Given the description of an element on the screen output the (x, y) to click on. 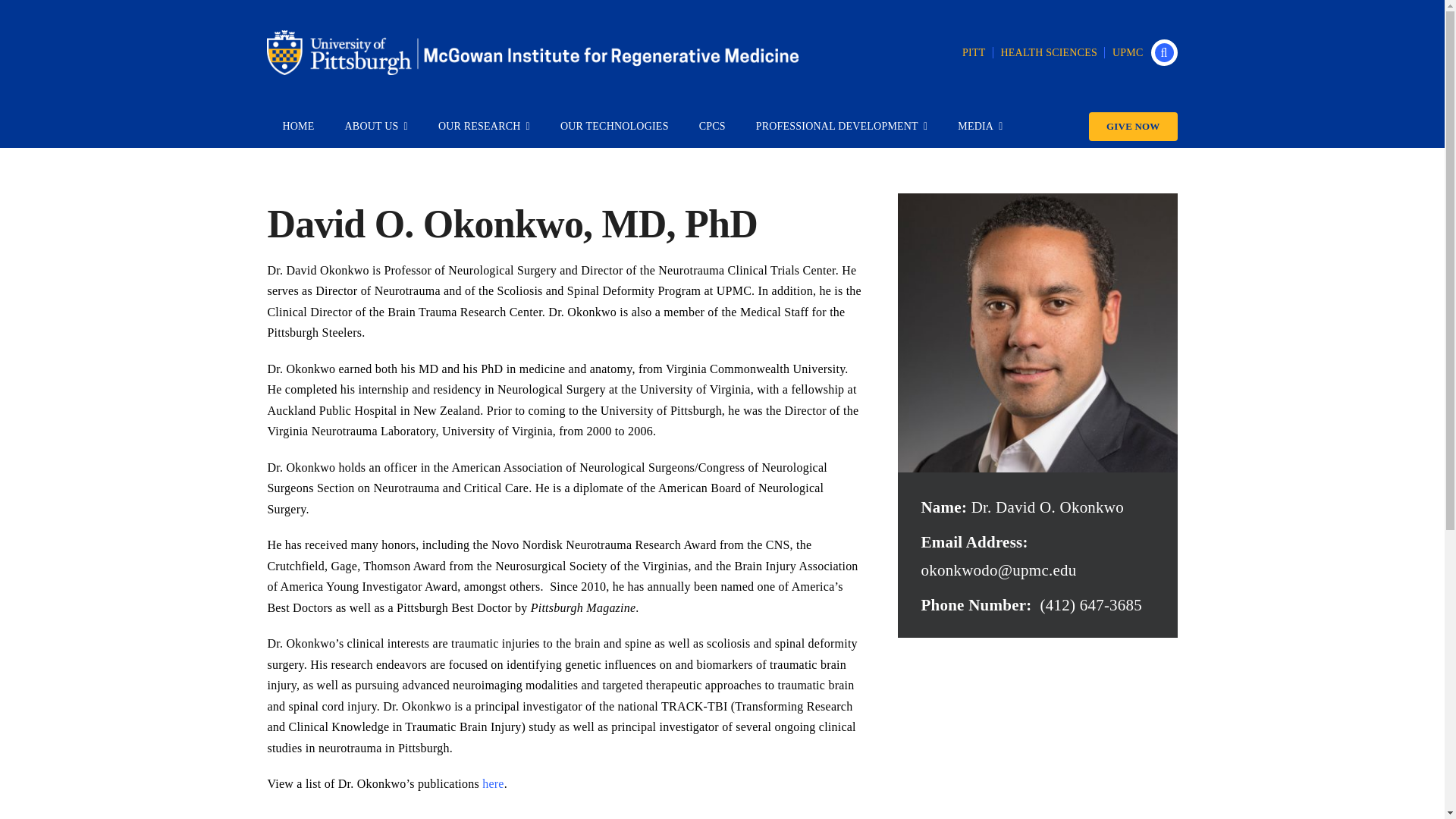
Search (1164, 52)
OUR TECHNOLOGIES (614, 126)
UPMC (1128, 52)
HEALTH SCIENCES (1048, 52)
ABOUT US (376, 126)
HOME (297, 126)
PROFESSIONAL DEVELOPMENT (841, 126)
OUR RESEARCH (483, 126)
CPCS (712, 126)
PITT (973, 52)
